Given the description of an element on the screen output the (x, y) to click on. 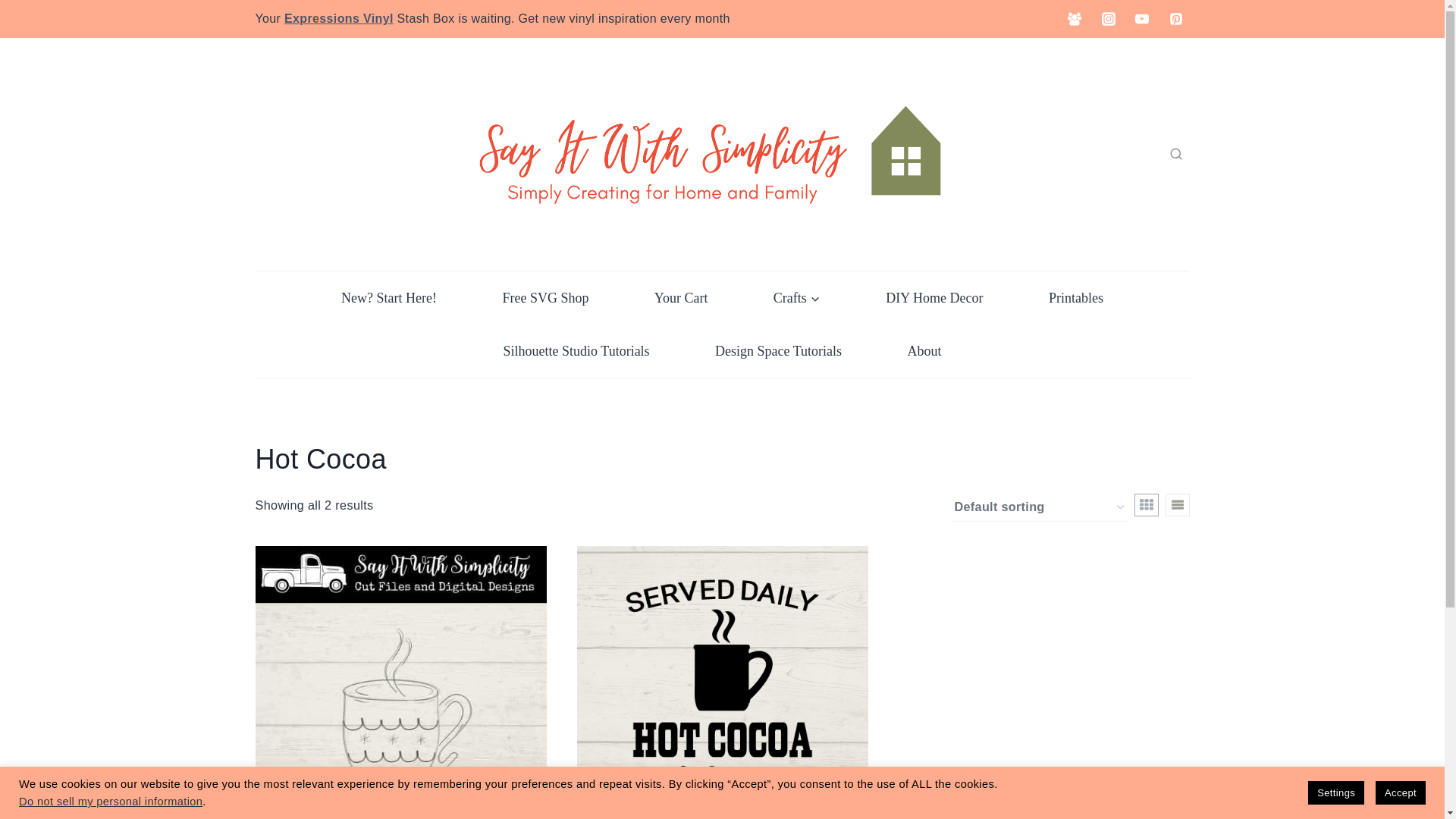
Free SVG Shop (544, 297)
New? Start Here! (388, 297)
Silhouette Studio Tutorials (575, 350)
Grid View (1146, 504)
Crafts (797, 297)
DIY Home Decor (934, 297)
Printables (1075, 297)
Your Cart (681, 297)
Design Space Tutorials (778, 350)
List View (1176, 504)
